Given the description of an element on the screen output the (x, y) to click on. 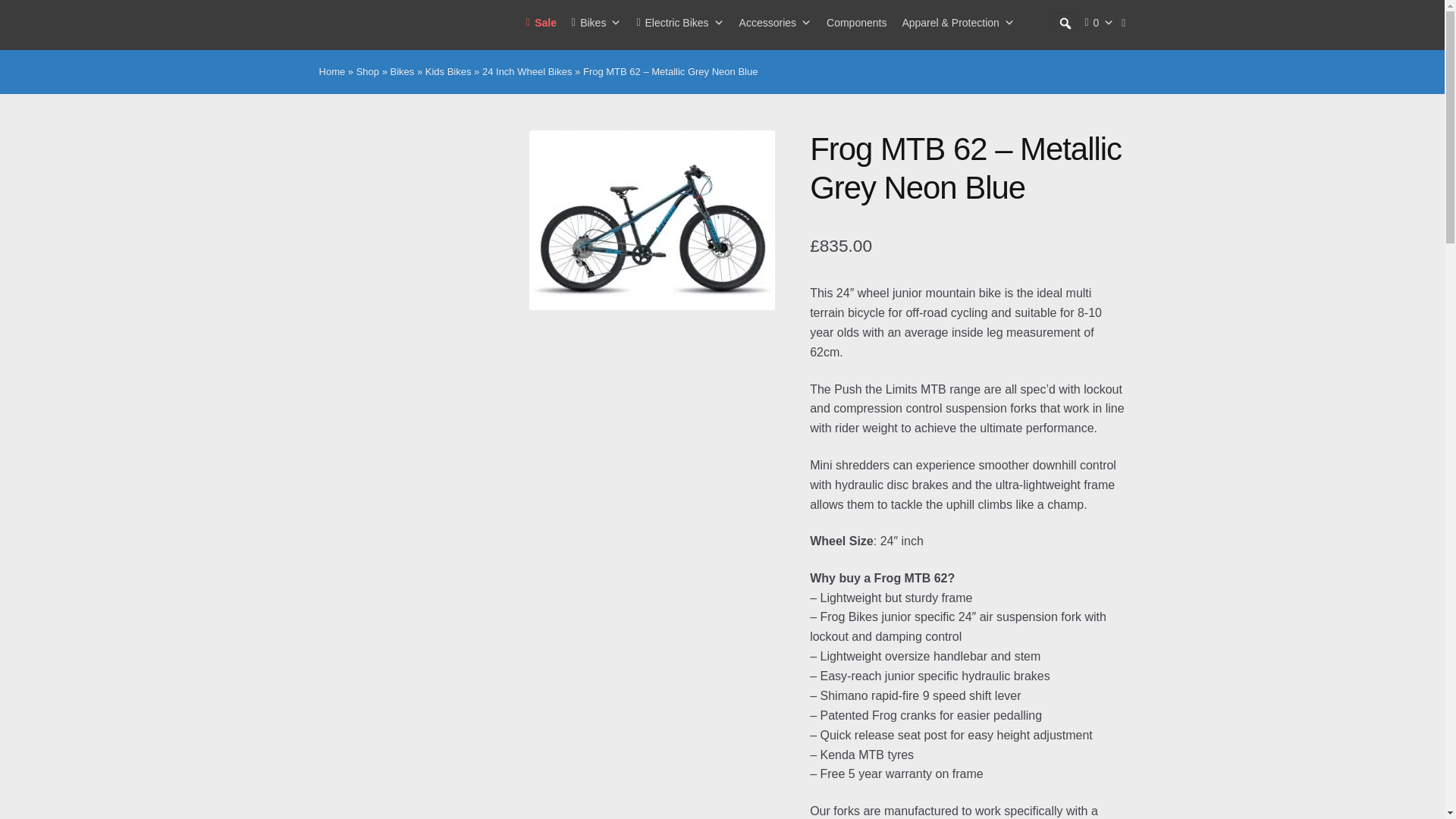
Bikes (596, 22)
Bikes (596, 22)
Cycling Accessories (775, 22)
Products On Sale (541, 22)
Sale (541, 22)
